Given the description of an element on the screen output the (x, y) to click on. 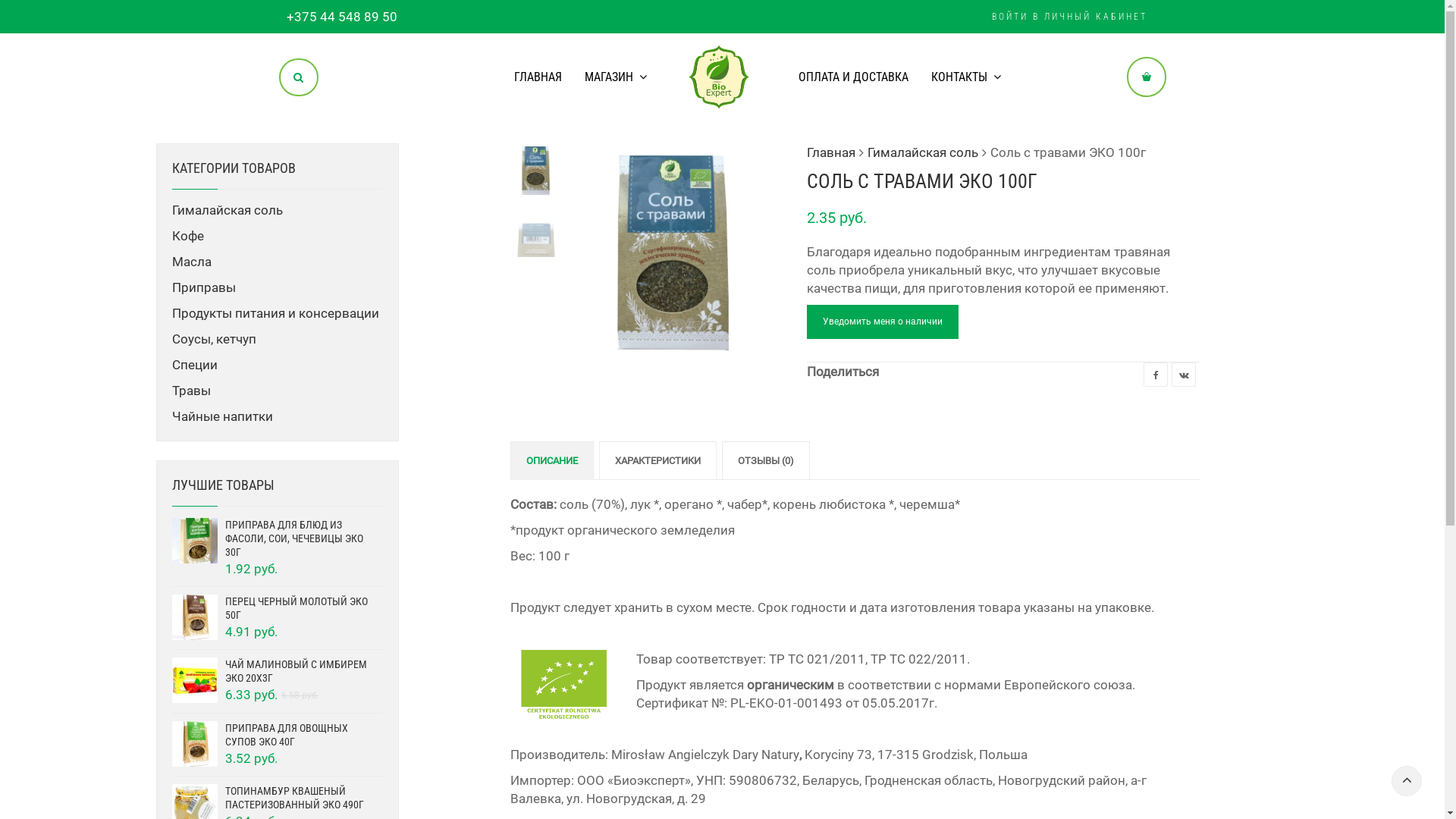
Facebook Element type: hover (1155, 374)
C0FAF348-5EBA-4205-8FBA-47D45FD4C1F3-min Element type: hover (890, 249)
VK Element type: hover (1183, 374)
